Given the description of an element on the screen output the (x, y) to click on. 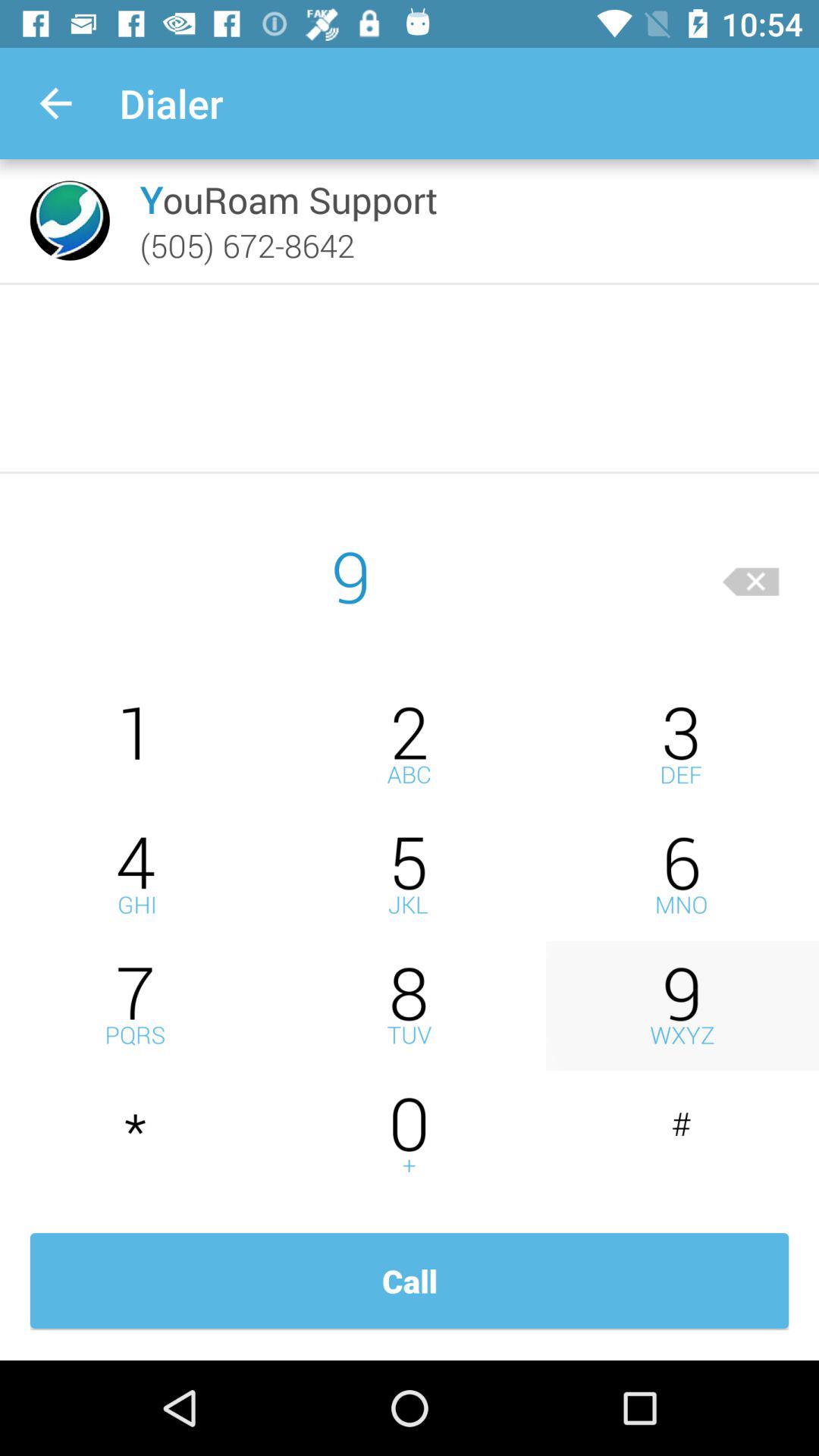
it describe number (409, 875)
